Given the description of an element on the screen output the (x, y) to click on. 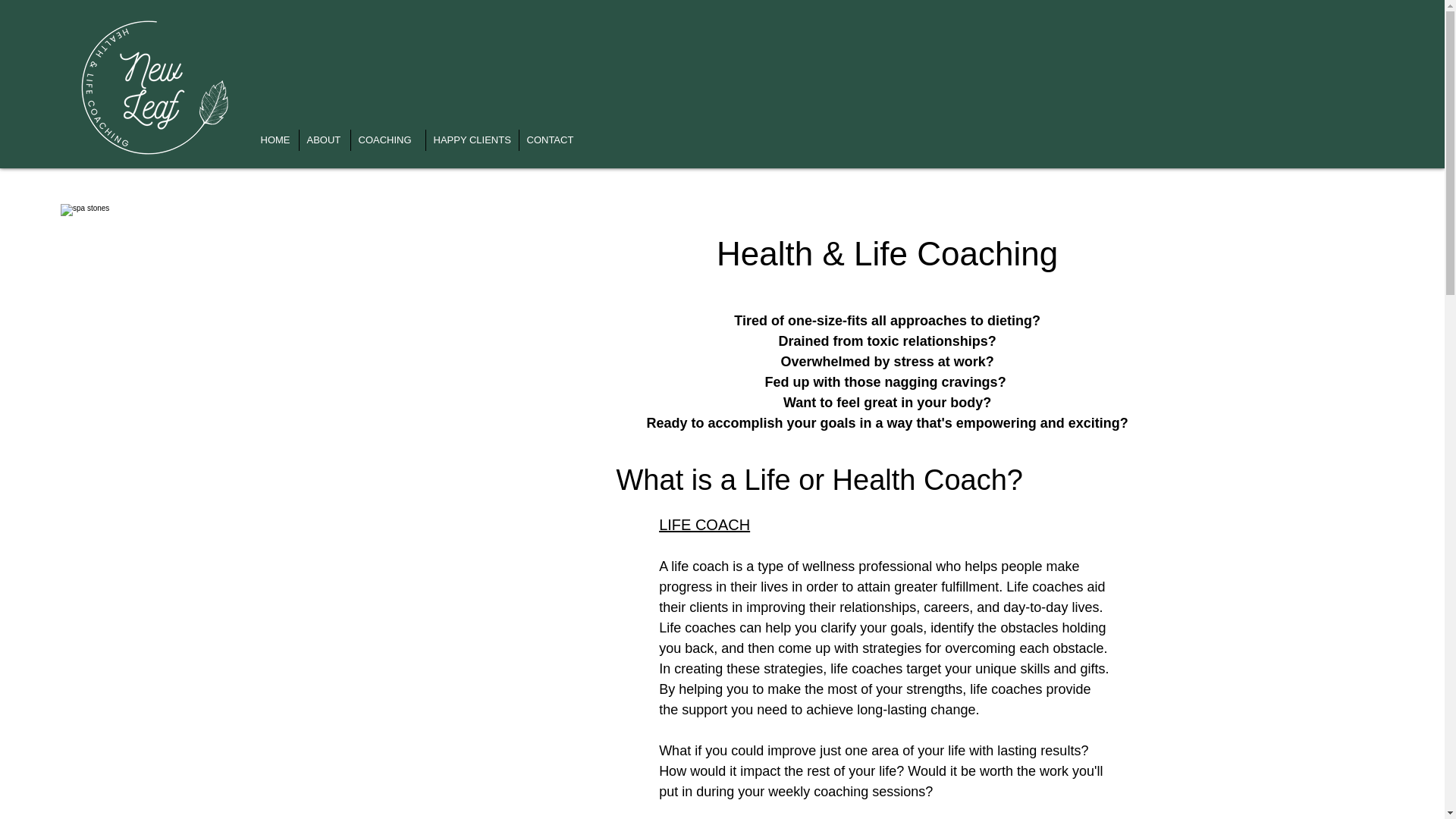
CONTACT (551, 139)
HAPPY CLIENTS (472, 139)
HOME (275, 139)
ABOUT (323, 139)
COACHING (387, 139)
